Given the description of an element on the screen output the (x, y) to click on. 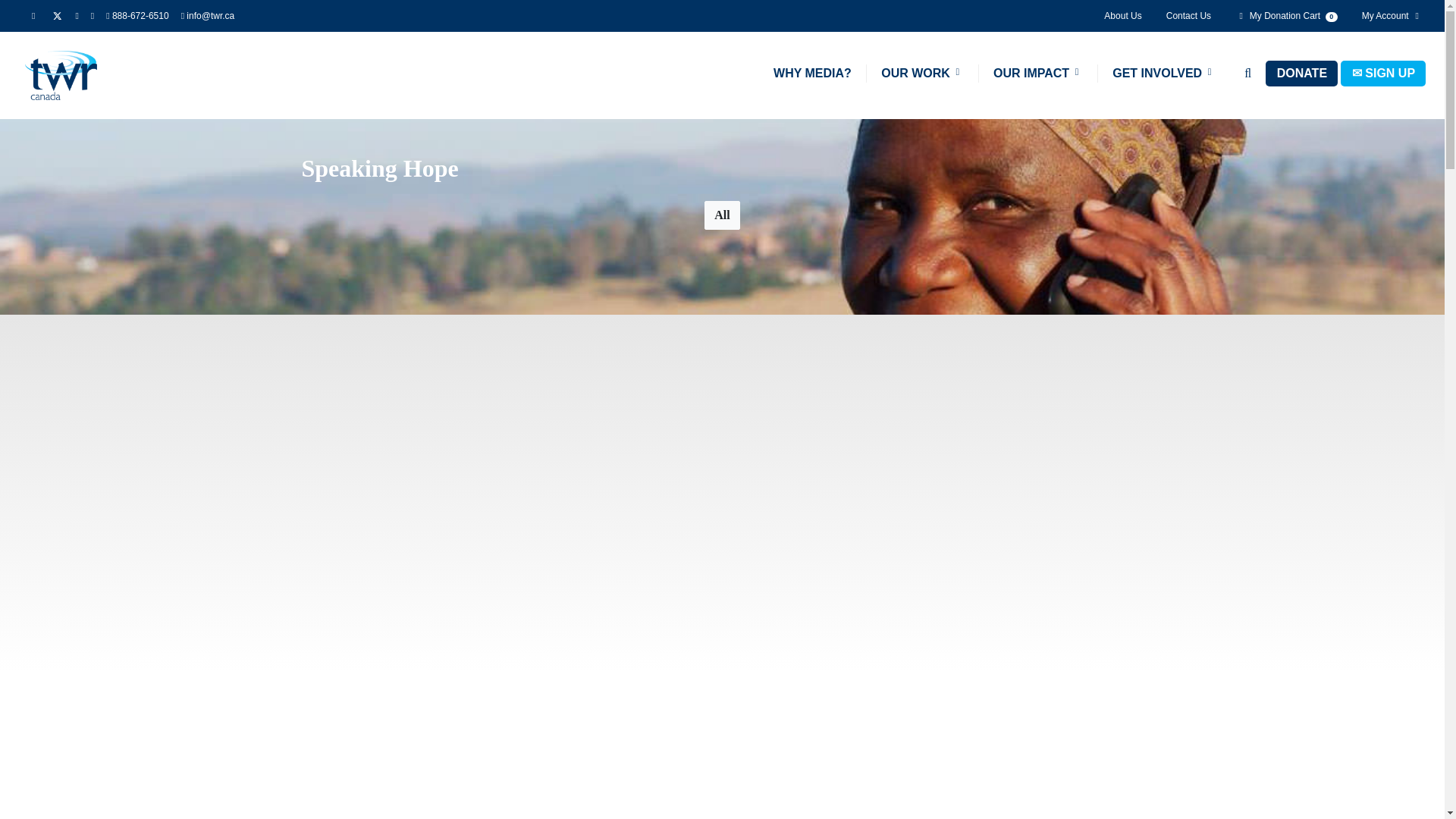
OUR IMPACT (1037, 73)
My Account (1386, 15)
GET INVOLVED (1163, 73)
 My Donation Cart  0 (1286, 15)
OUR WORK (922, 73)
Contact Us (1188, 15)
WHY MEDIA? (812, 73)
About Us (1122, 15)
